Given the description of an element on the screen output the (x, y) to click on. 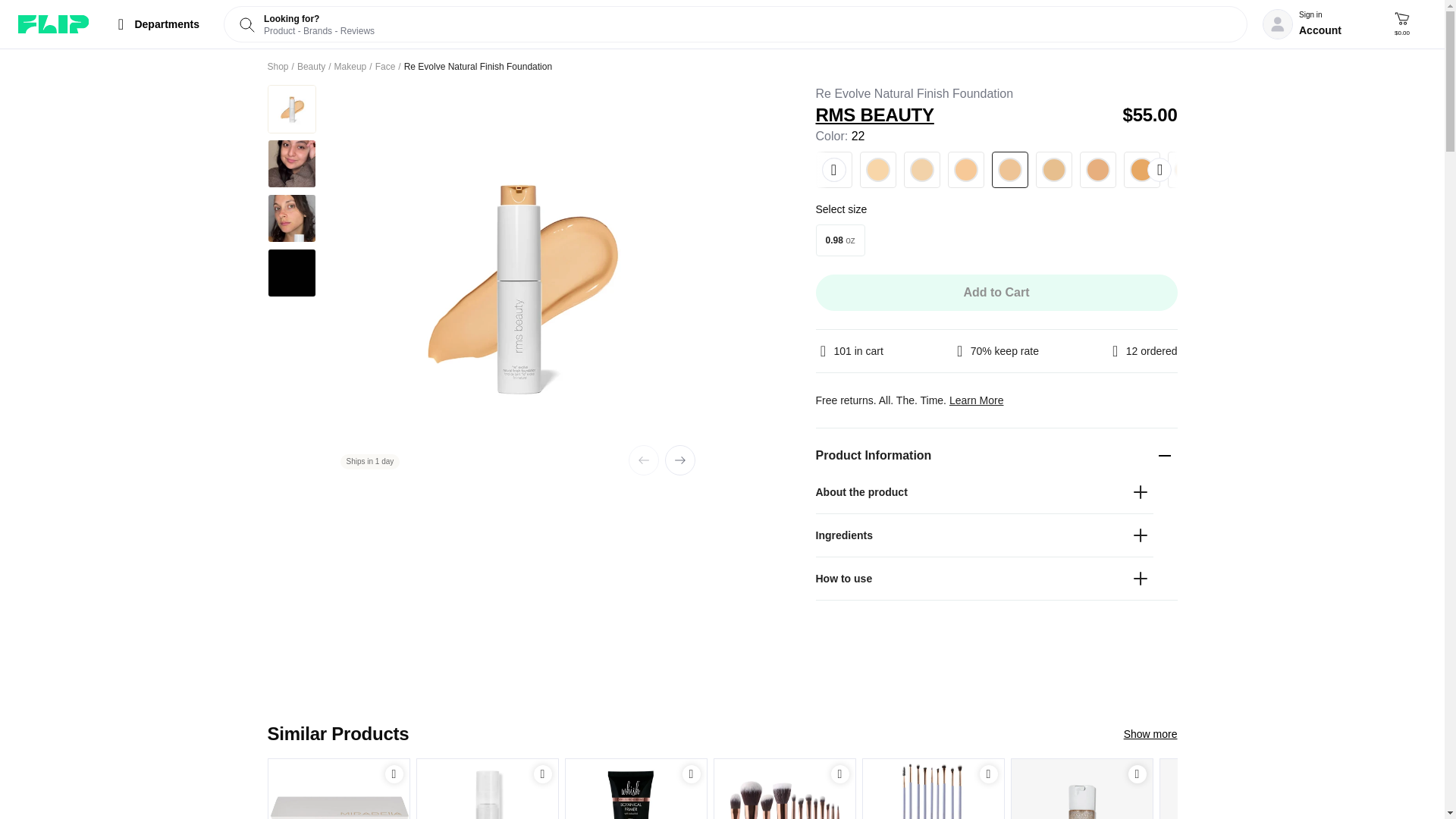
Add to Cart (691, 774)
Departments (155, 23)
Add to Cart (394, 773)
Makeup (721, 66)
Beauty (350, 66)
Shop (310, 66)
Face (277, 66)
0.98 oz (385, 66)
Learn More (839, 240)
Add to Cart (976, 399)
Honest Beauty Save Face Shielding Setting Spray (394, 774)
Flip feed (486, 789)
RMS Beauty (52, 24)
